Given the description of an element on the screen output the (x, y) to click on. 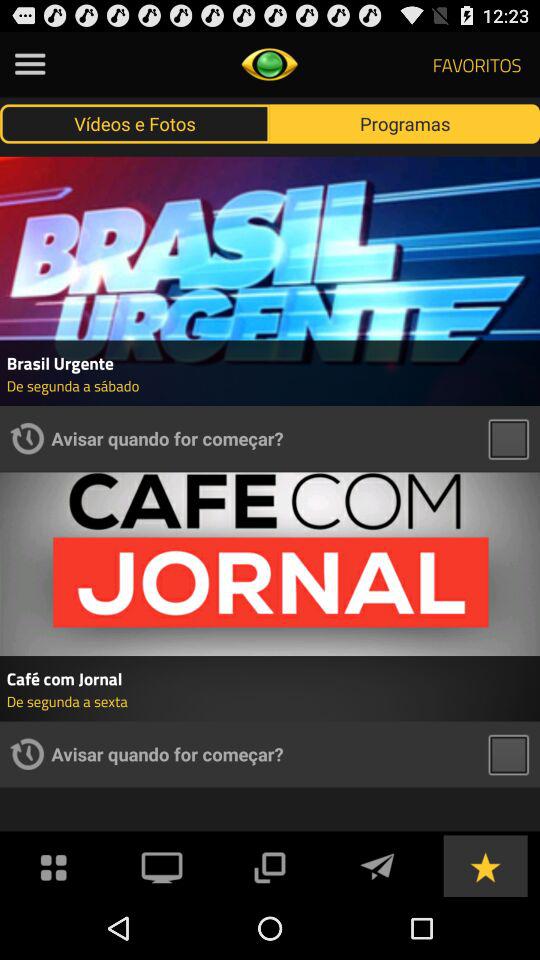
click app next to avisar quando for app (27, 753)
